Given the description of an element on the screen output the (x, y) to click on. 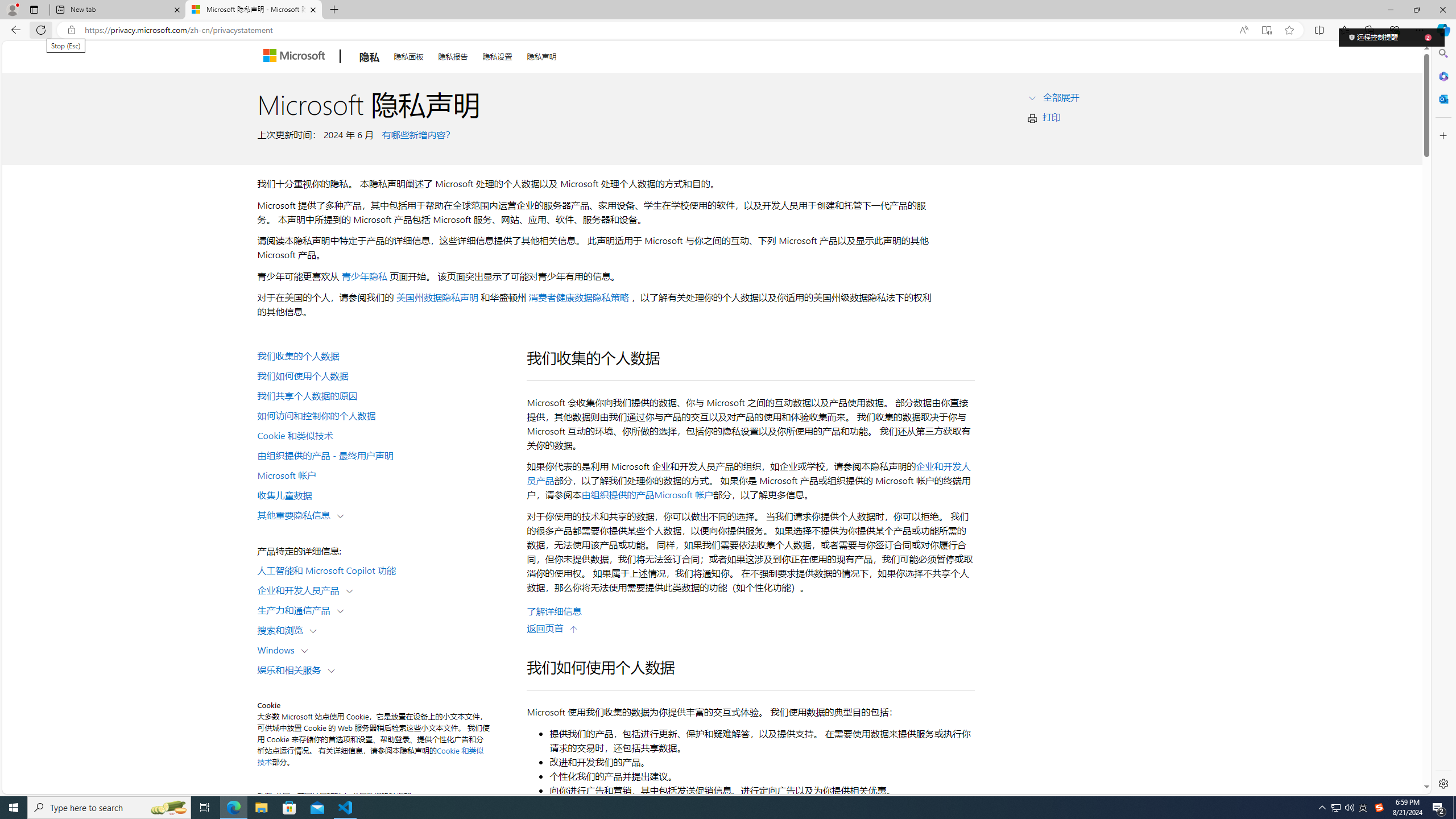
Microsoft (295, 56)
App bar (728, 29)
